Given the description of an element on the screen output the (x, y) to click on. 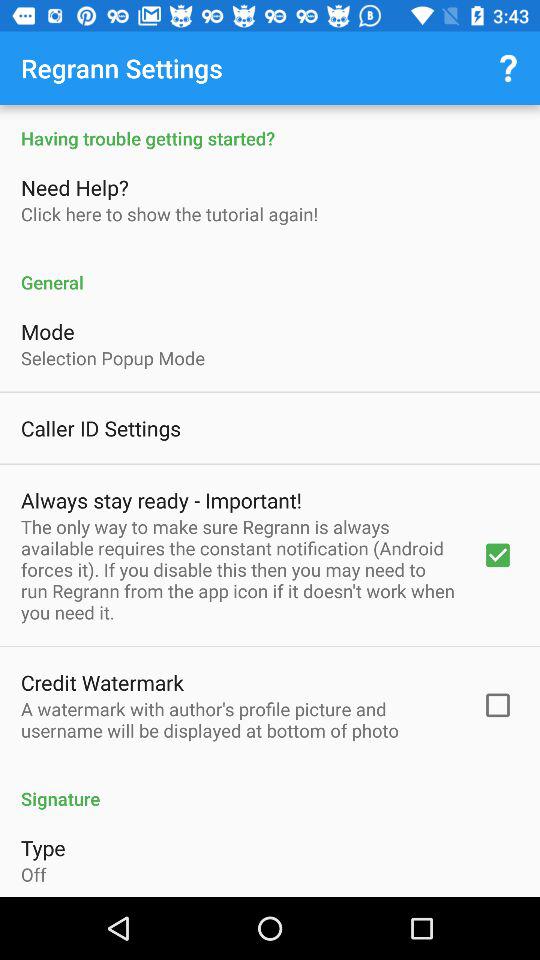
flip until a watermark with item (238, 719)
